Given the description of an element on the screen output the (x, y) to click on. 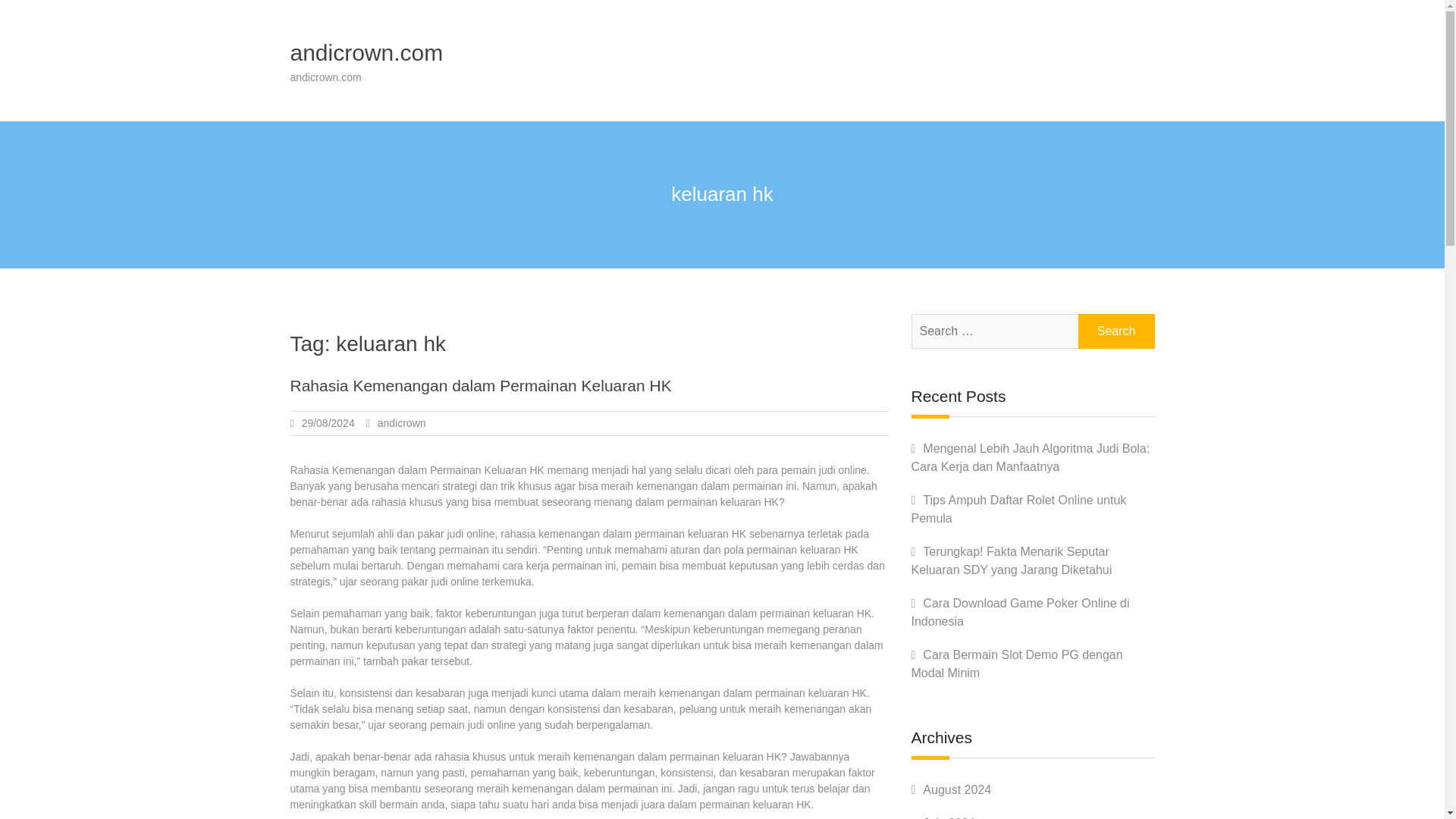
Tips Ampuh Daftar Rolet Online untuk Pemula (1018, 508)
Cara Download Game Poker Online di Indonesia (1020, 612)
Cara Bermain Slot Demo PG dengan Modal Minim (1016, 663)
Search (1116, 330)
July 2024 (949, 817)
Search (1116, 330)
andicrown.com (365, 52)
andicrown (401, 422)
